Given the description of an element on the screen output the (x, y) to click on. 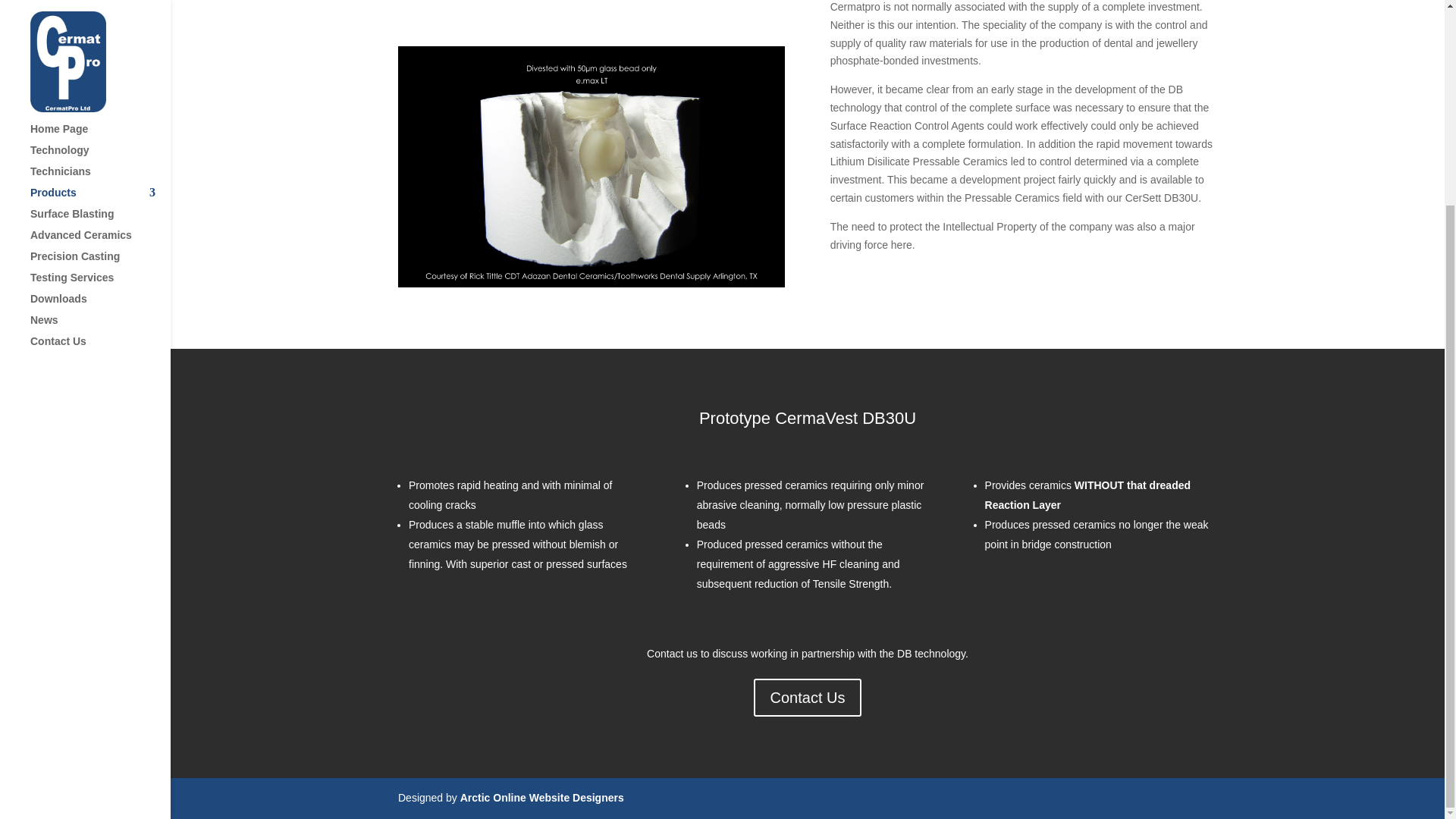
Contact Us (807, 697)
Contact Us (100, 82)
Testing Services (100, 18)
News (100, 61)
Downloads (100, 39)
Precision Casting (100, 4)
Arctic Online Website Designers (542, 797)
